Given the description of an element on the screen output the (x, y) to click on. 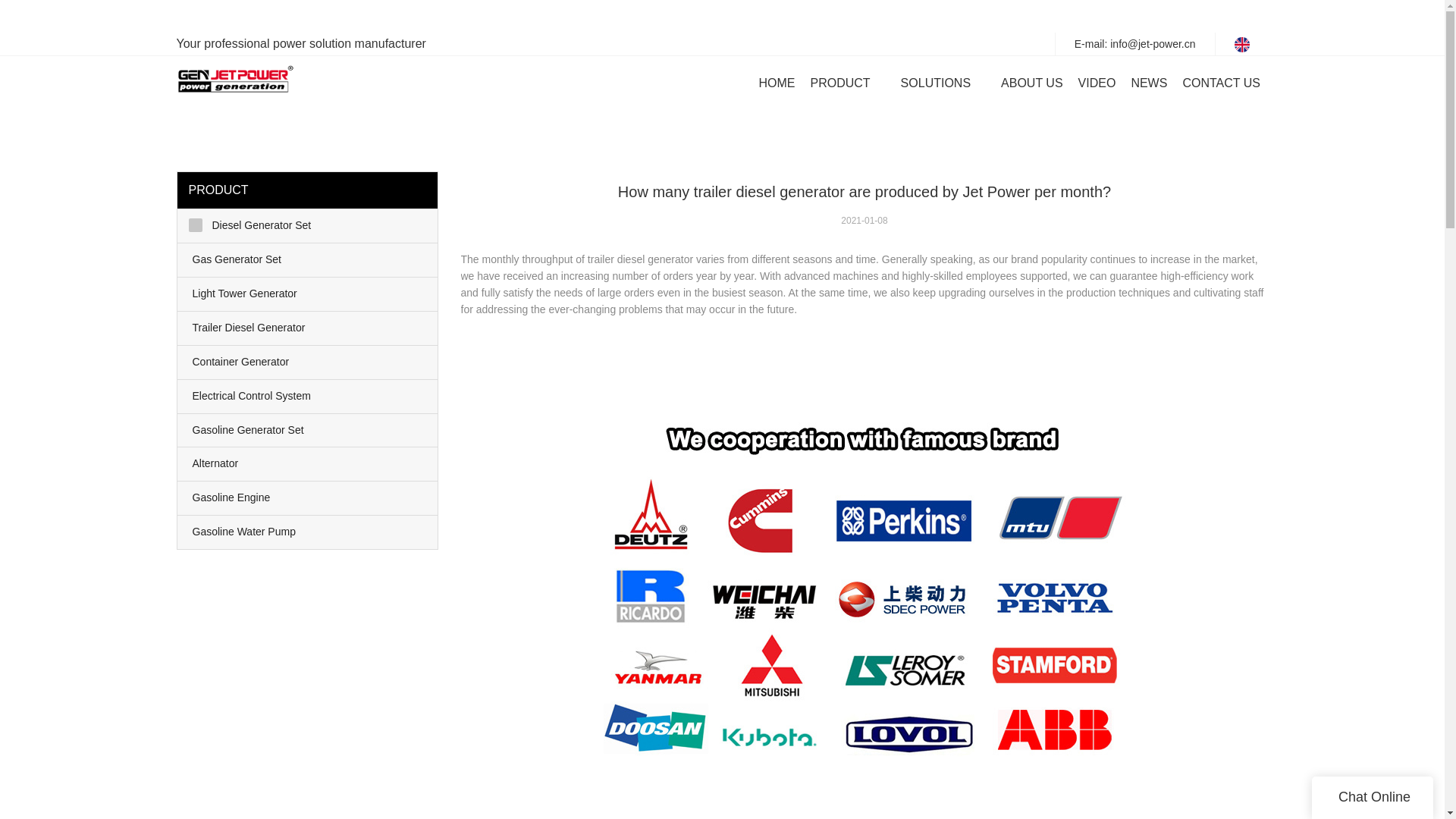
Gasoline Water Pump (307, 531)
Diesel Generator Set (307, 225)
PRODUCT (839, 82)
Alternator (307, 463)
NEWS (1149, 82)
Light Tower Generator (307, 294)
ABOUT US (1031, 82)
VIDEO (1097, 82)
Trailer Diesel Generator (307, 328)
Electrical Control System (307, 396)
